Given the description of an element on the screen output the (x, y) to click on. 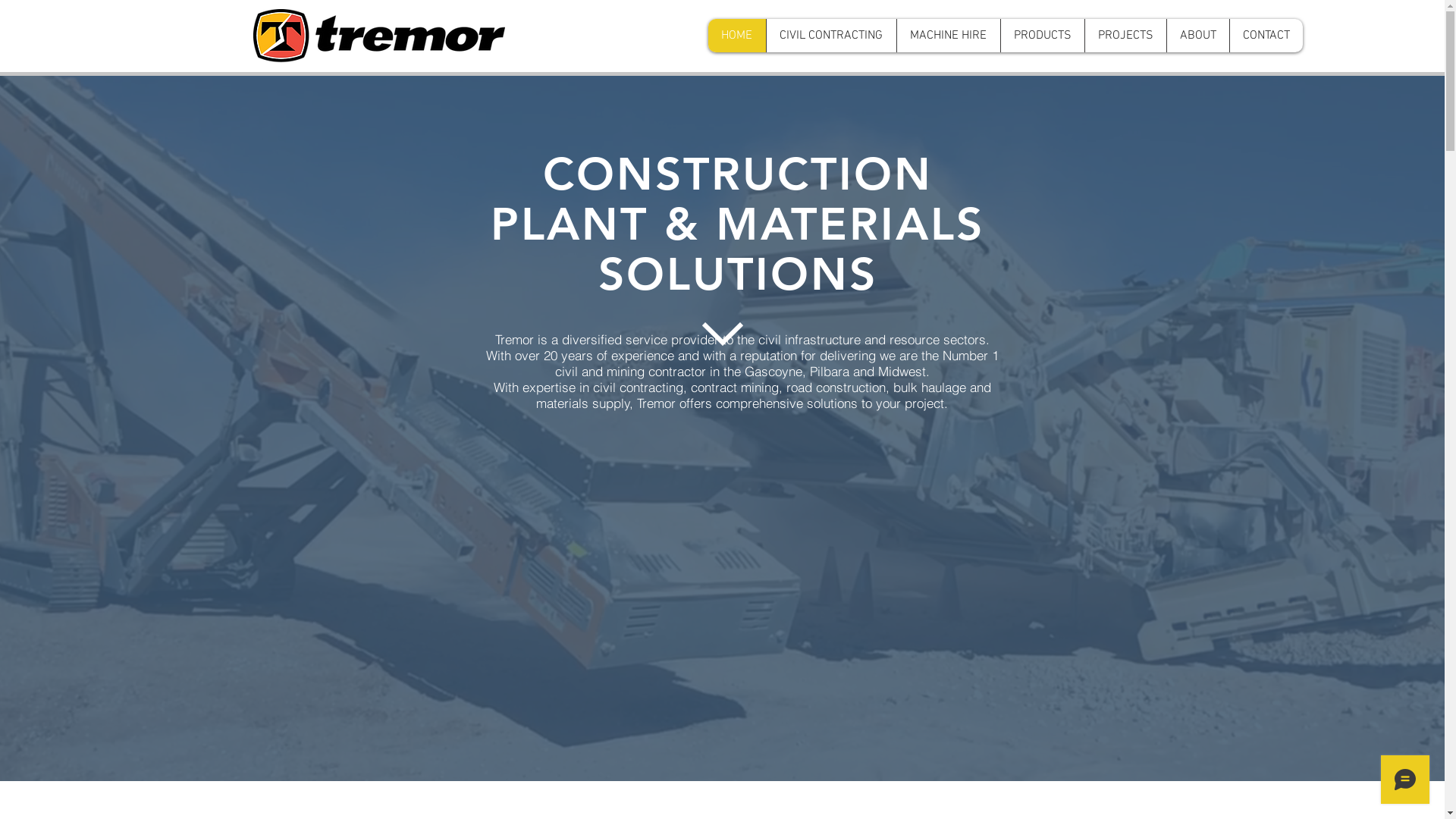
CONTACT Element type: text (1265, 35)
CIVIL CONTRACTING Element type: text (830, 35)
HOME Element type: text (736, 35)
ABOUT Element type: text (1197, 35)
MACHINE HIRE Element type: text (948, 35)
PROJECTS Element type: text (1125, 35)
PRODUCTS Element type: text (1041, 35)
